Given the description of an element on the screen output the (x, y) to click on. 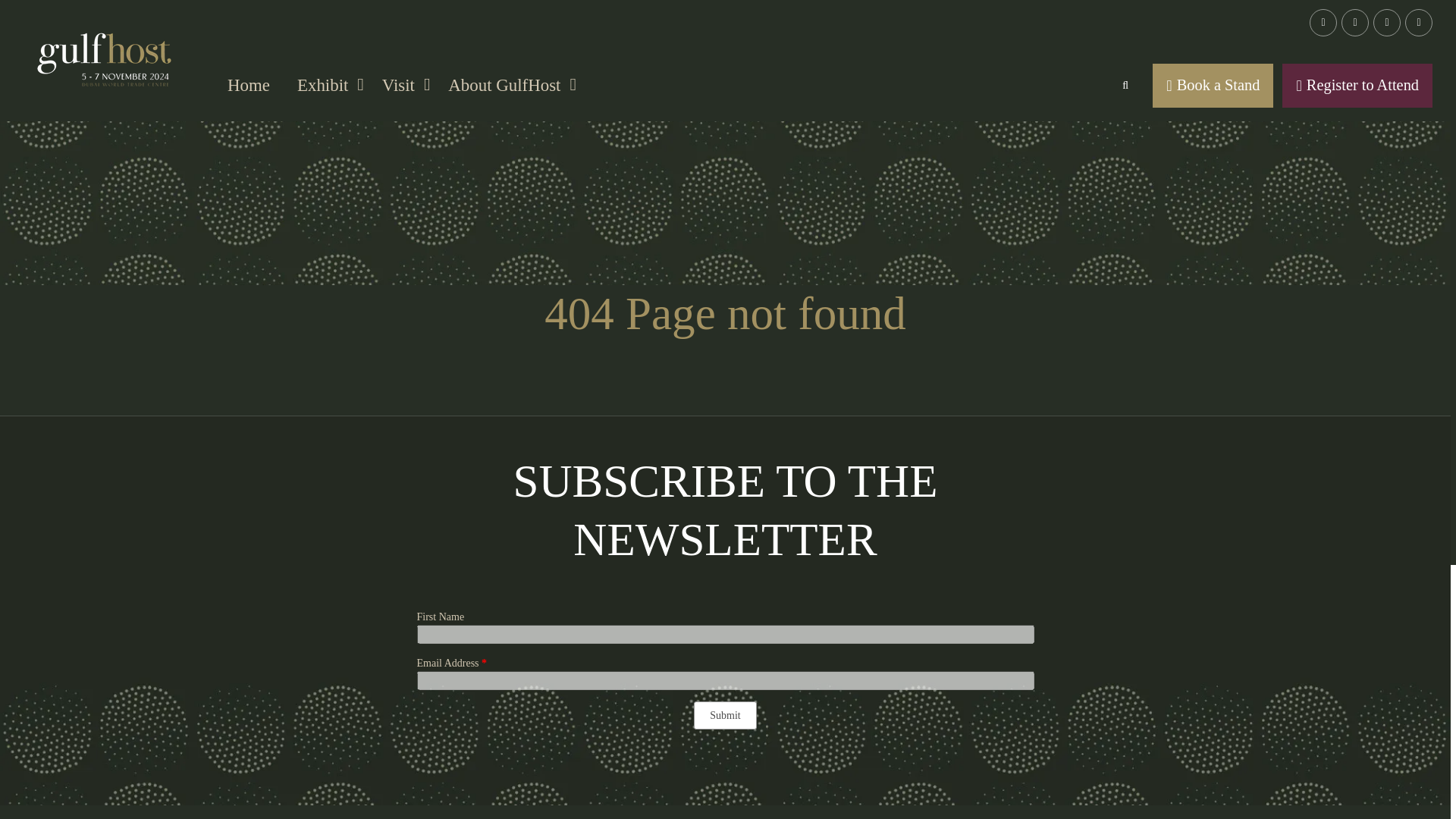
Visit (401, 85)
Submit (724, 715)
Facebook (1354, 22)
Book a Stand (1212, 85)
Register to Attend (1357, 85)
Exhibit (326, 85)
LinkedIn (1322, 22)
Home (248, 85)
Home (248, 85)
About GulfHost (507, 85)
